Given the description of an element on the screen output the (x, y) to click on. 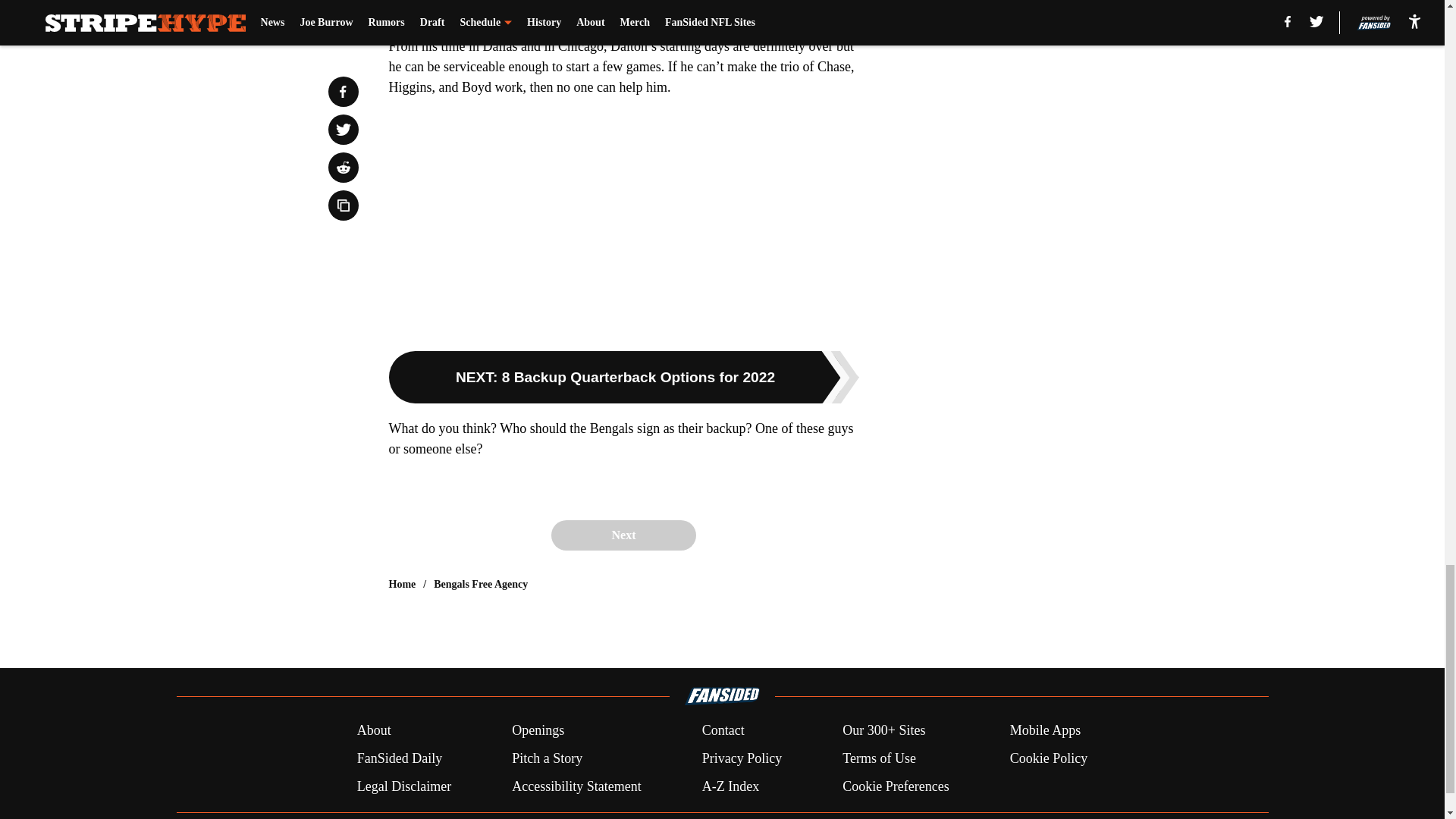
Pitch a Story (547, 758)
Openings (538, 730)
Legal Disclaimer (403, 786)
Next (622, 535)
Terms of Use (879, 758)
NEXT: 8 Backup Quarterback Options for 2022 (623, 377)
Bengals Free Agency (480, 584)
Privacy Policy (742, 758)
Mobile Apps (1045, 730)
Home (401, 584)
